Given the description of an element on the screen output the (x, y) to click on. 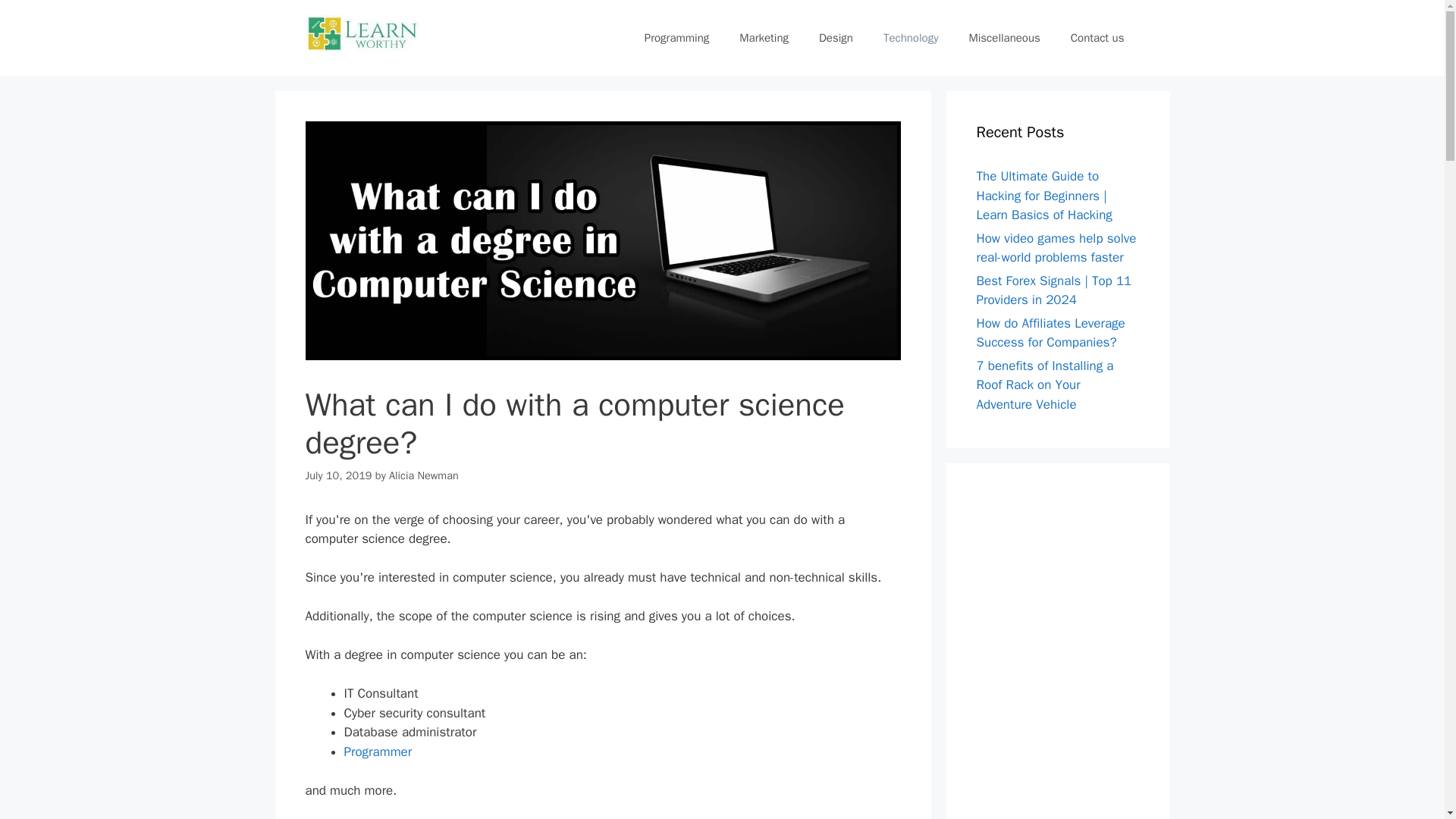
Marketing (763, 37)
Search (35, 18)
Programming (675, 37)
Learn Worthy (361, 32)
How do Affiliates Leverage Success for Companies? (1050, 333)
Technology (910, 37)
Alicia Newman (423, 475)
Contact us (1097, 37)
Miscellaneous (1003, 37)
View all posts by Alicia Newman (423, 475)
